Given the description of an element on the screen output the (x, y) to click on. 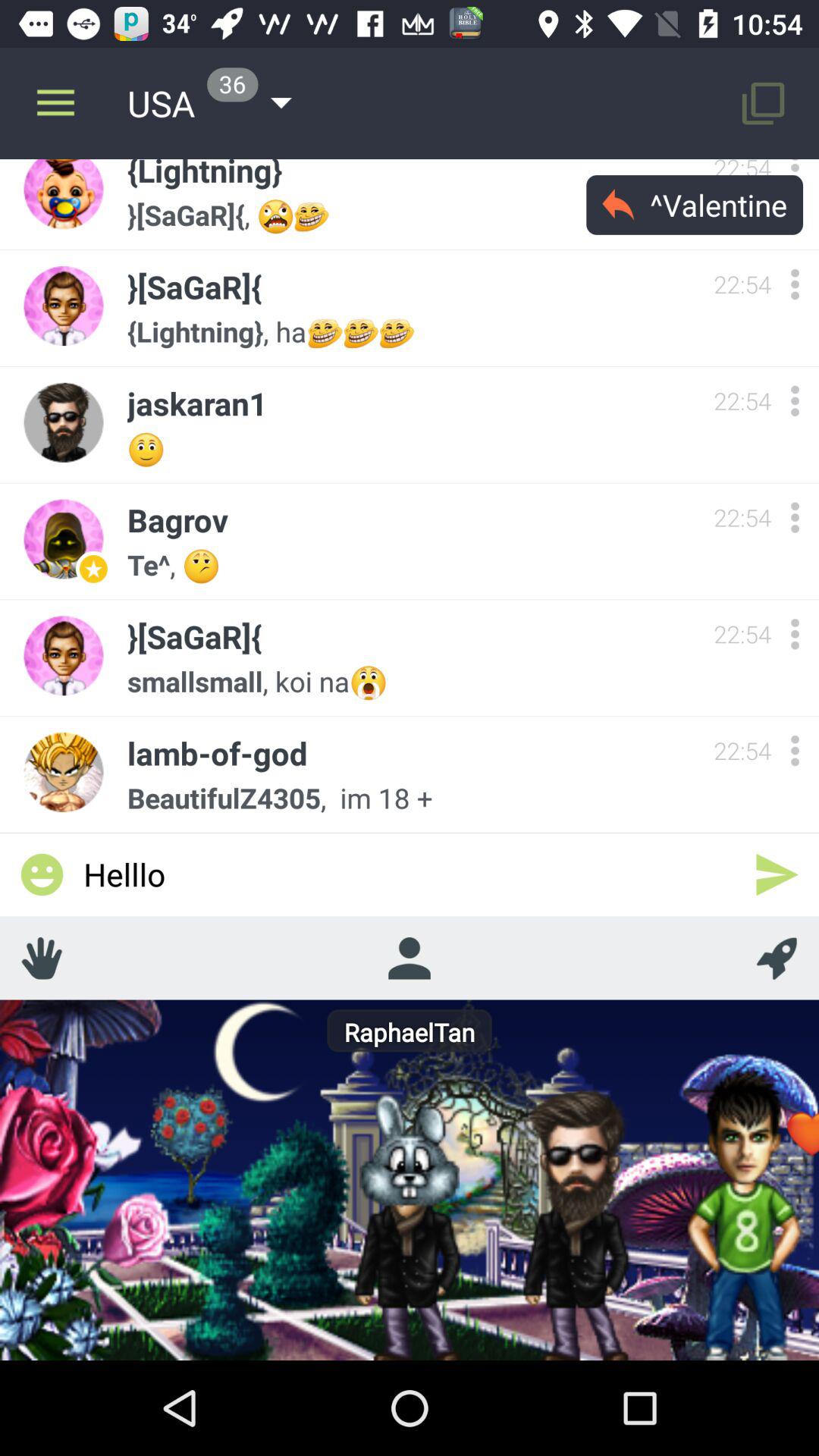
select the item below helllo item (409, 957)
